Given the description of an element on the screen output the (x, y) to click on. 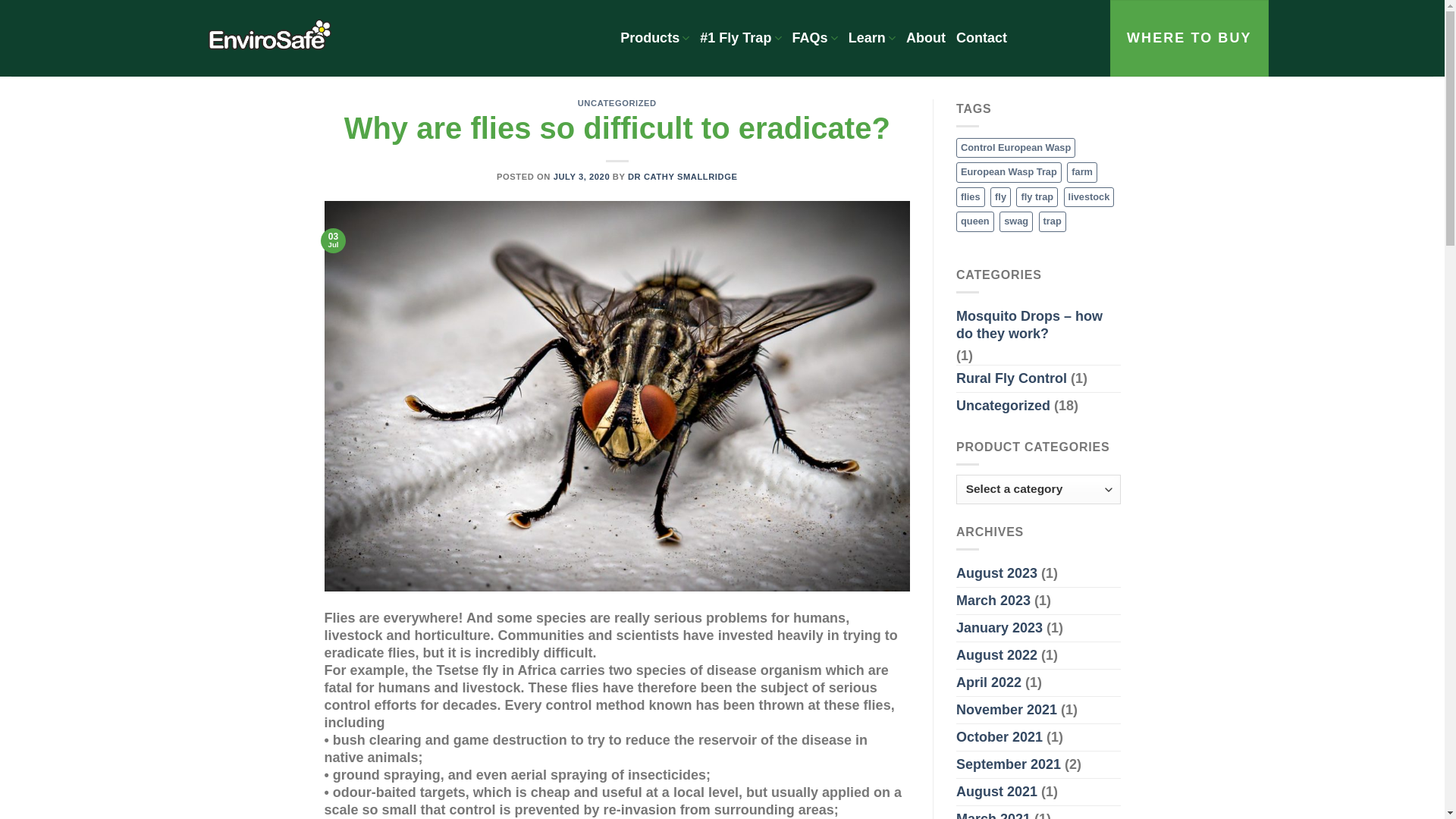
trap Element type: text (1052, 221)
January 2023 Element type: text (999, 628)
March 2023 Element type: text (993, 600)
WHERE TO BUY Element type: text (1188, 38)
Envirosafe - Australia's #1 Flytrap Element type: hover (396, 38)
Uncategorized Element type: text (1003, 405)
European Wasp Trap Element type: text (1008, 172)
#1 Fly Trap Element type: text (740, 37)
Learn Element type: text (871, 37)
livestock Element type: text (1088, 197)
Contact Element type: text (981, 37)
swag Element type: text (1015, 221)
October 2021 Element type: text (999, 737)
August 2023 Element type: text (996, 573)
August 2021 Element type: text (996, 791)
About Element type: text (925, 37)
April 2022 Element type: text (988, 682)
farm Element type: text (1081, 172)
JULY 3, 2020 Element type: text (581, 176)
fly trap Element type: text (1036, 197)
September 2021 Element type: text (1008, 764)
November 2021 Element type: text (1006, 709)
Control European Wasp Element type: text (1015, 147)
fly Element type: text (1000, 197)
FAQs Element type: text (814, 37)
queen Element type: text (975, 221)
UNCATEGORIZED Element type: text (616, 102)
flies Element type: text (970, 197)
Rural Fly Control Element type: text (1011, 378)
DR CATHY SMALLRIDGE Element type: text (682, 176)
Products Element type: text (654, 37)
August 2022 Element type: text (996, 655)
